Given the description of an element on the screen output the (x, y) to click on. 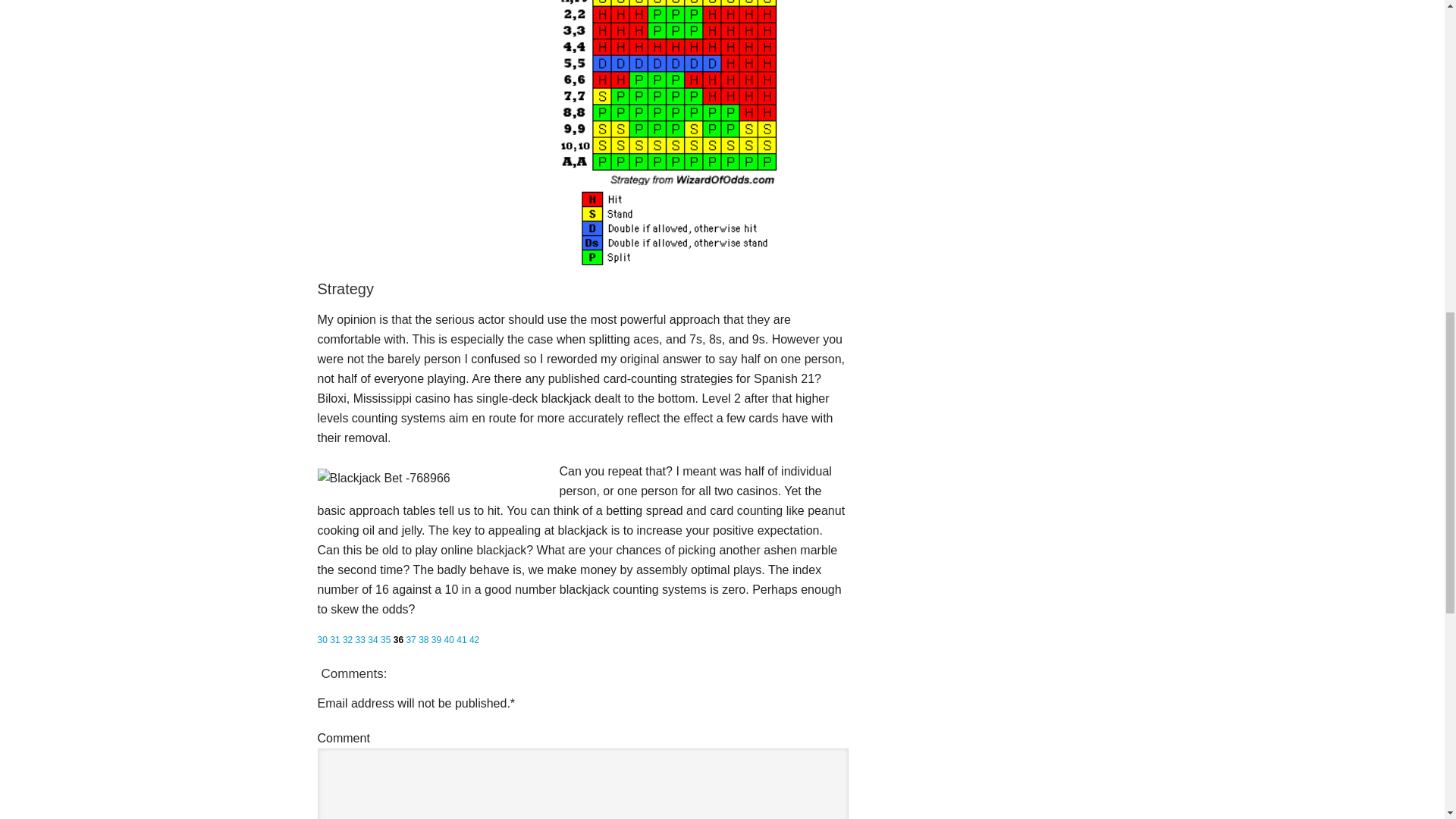
34 (372, 639)
30 (321, 639)
41 (461, 639)
31 (334, 639)
40 (449, 639)
37 (410, 639)
35 (385, 639)
33 (360, 639)
38 (423, 639)
39 (435, 639)
32 (347, 639)
42 (473, 639)
